Given the description of an element on the screen output the (x, y) to click on. 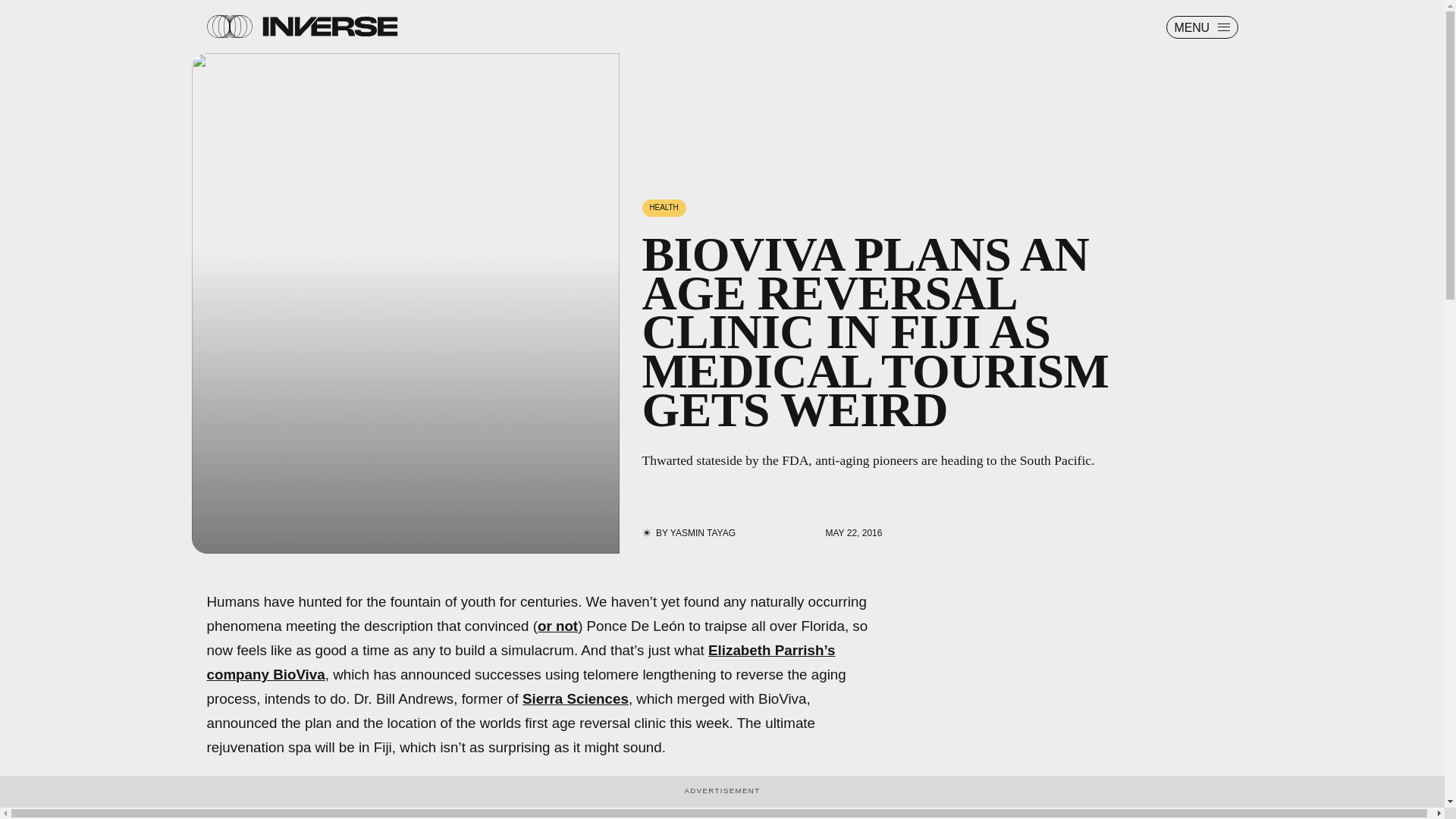
Inverse (328, 26)
or not (557, 625)
Sierra Sciences (575, 698)
YASMIN TAYAG (702, 532)
